Given the description of an element on the screen output the (x, y) to click on. 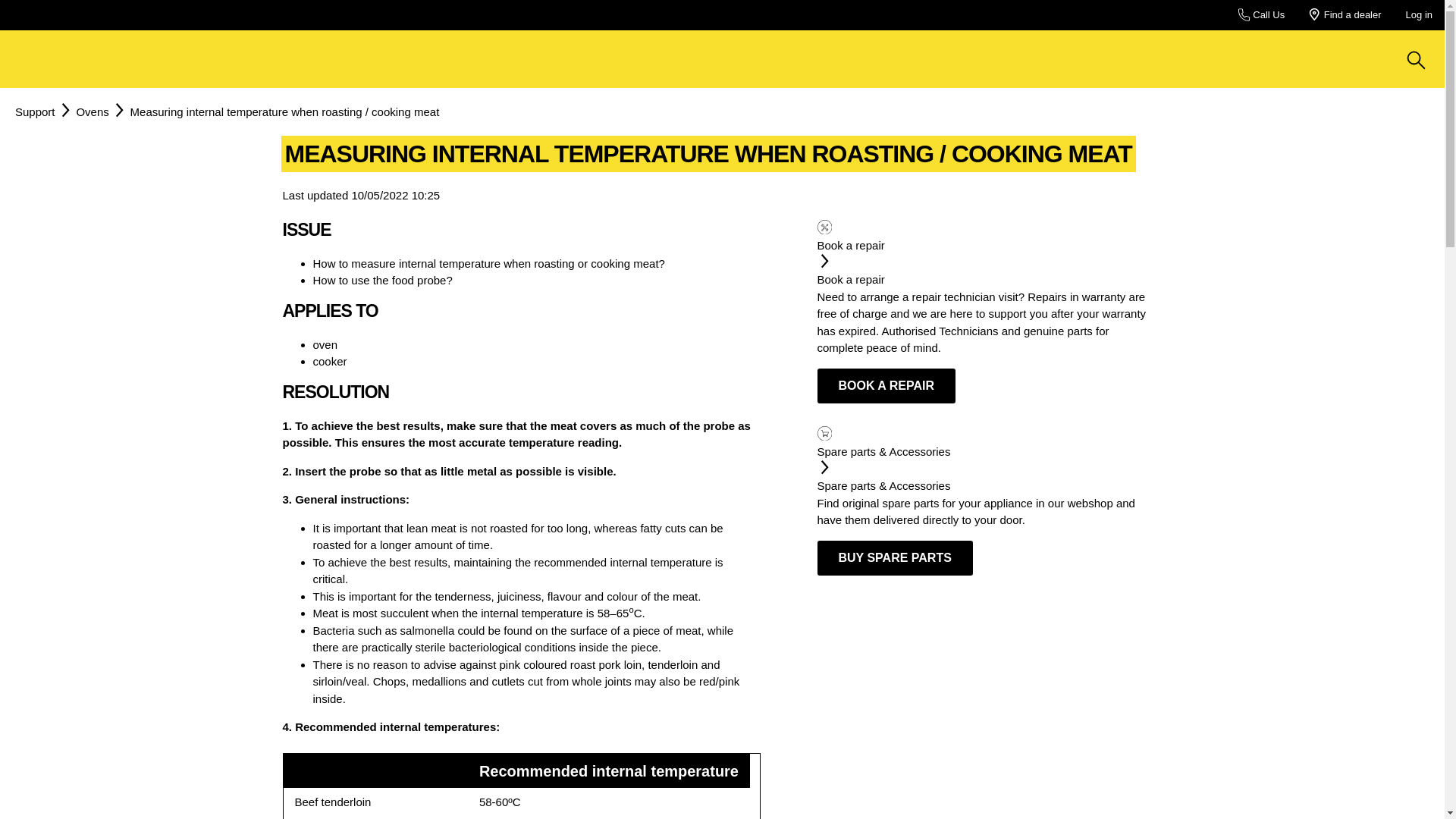
Find a dealer (1345, 15)
Call Us (1261, 15)
